Given the description of an element on the screen output the (x, y) to click on. 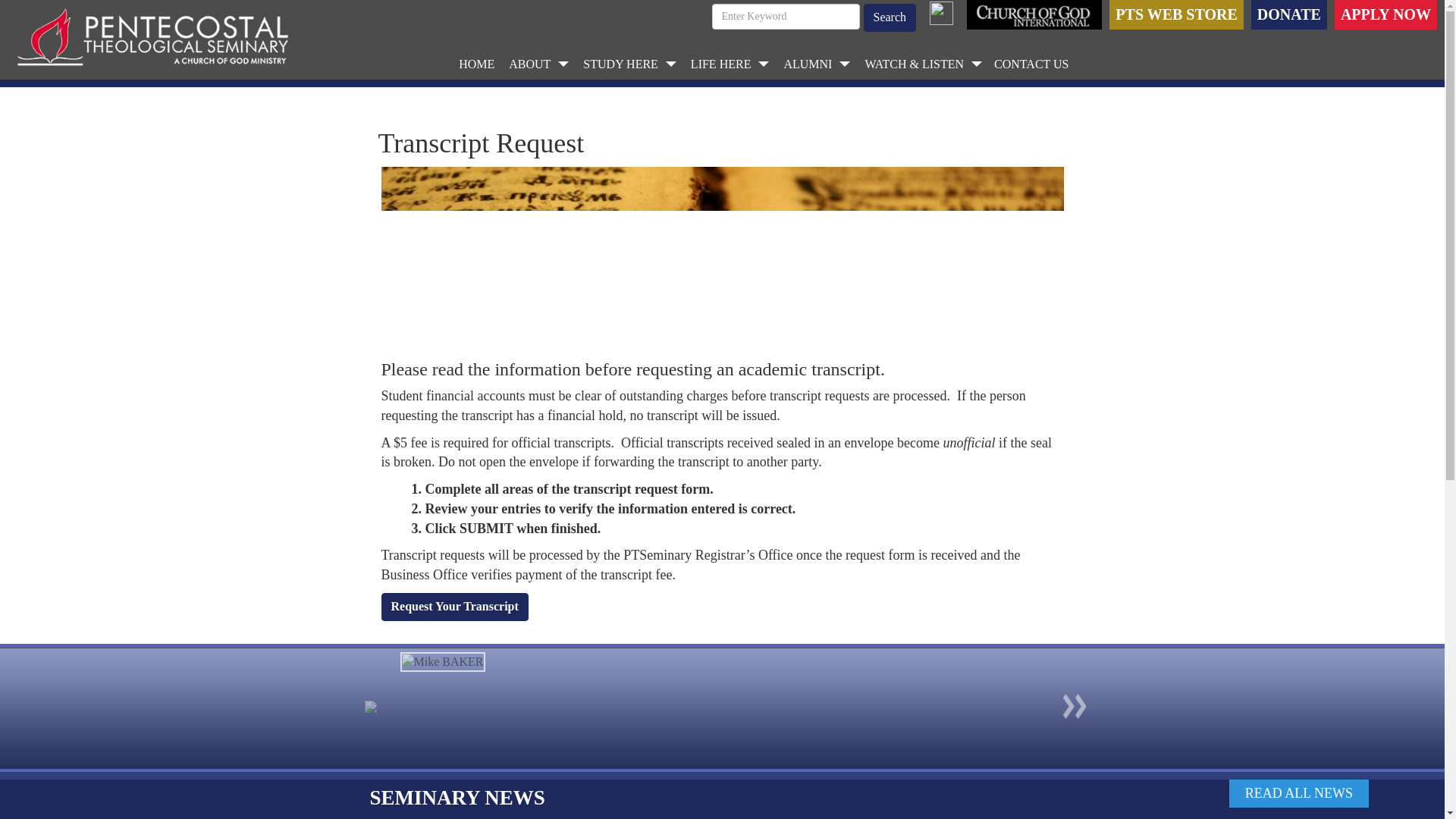
HOME (476, 64)
Mike BAKER (442, 661)
ALUMNI (816, 64)
STUDY HERE (629, 64)
Search (889, 17)
ABOUT (538, 64)
LIFE HERE (730, 64)
